Given the description of an element on the screen output the (x, y) to click on. 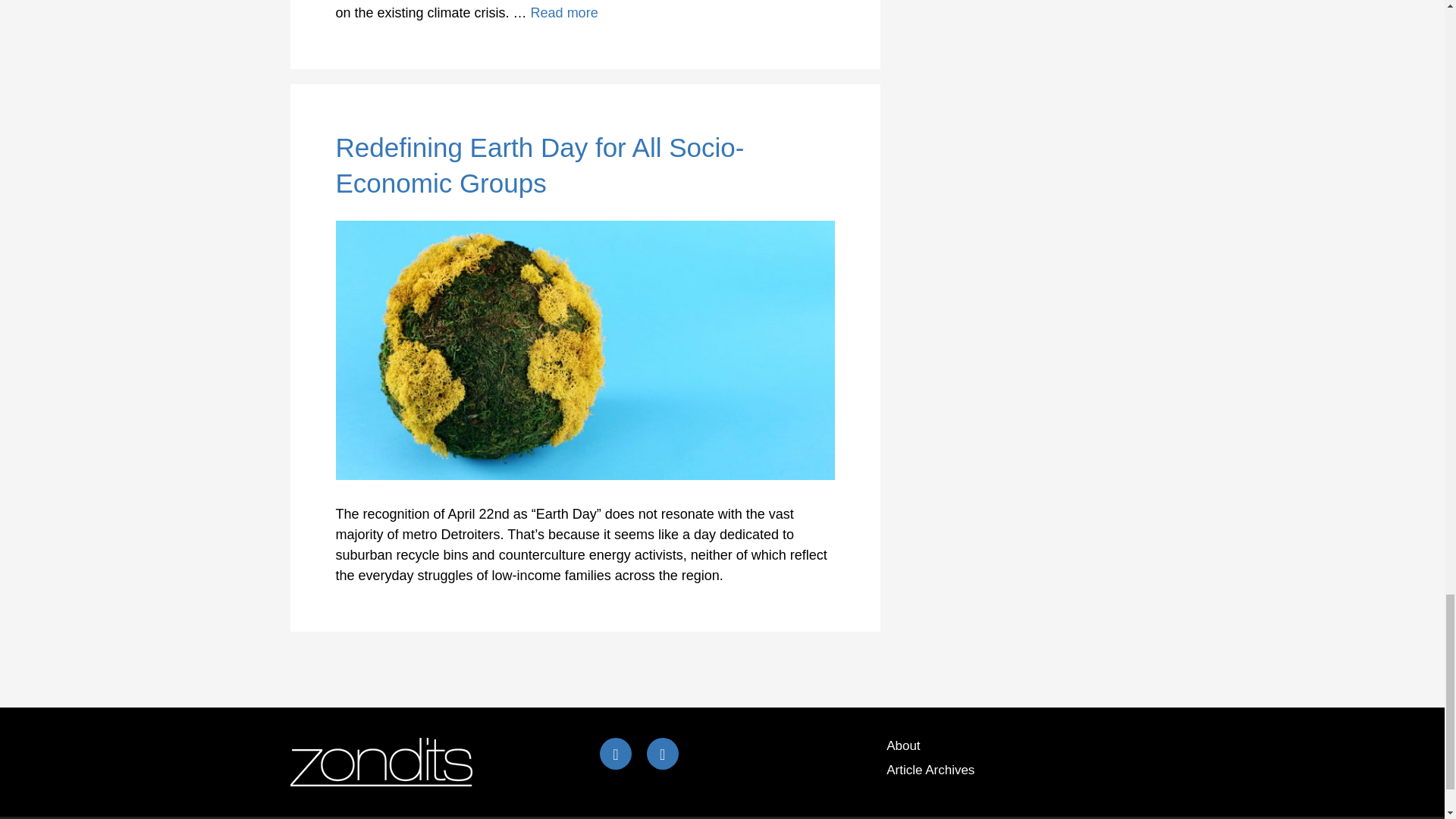
Adding More Things Green to Your Holiday (564, 12)
